Given the description of an element on the screen output the (x, y) to click on. 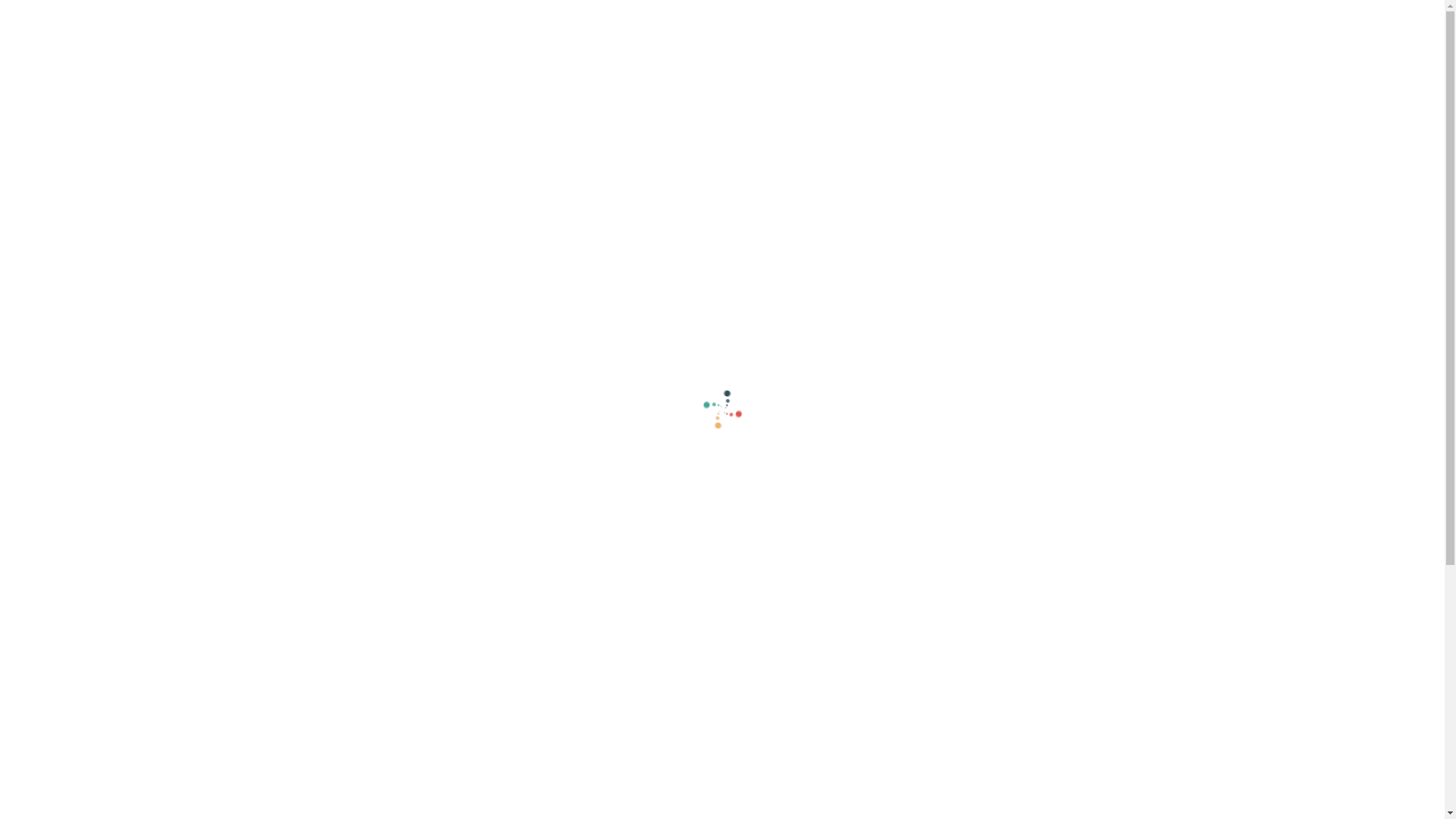
KONTAKT Element type: text (1046, 71)
Noch Fragen? Element type: text (405, 17)
INTERKULTURELLE BERATUNG BERN Element type: text (1029, 252)
Dienstleistungen Element type: text (467, 128)
Home Element type: text (385, 128)
STRESS & BURNOUT-MENTORING Element type: text (1029, 293)
albacase@albacase.ch Element type: text (970, 624)
BEITRAG (PDF) Element type: text (1100, 17)
PERSONALBERATUNG & VERMITTLUNG Element type: text (1029, 374)
CASE & CHANGE MANAGEMENT Element type: text (1029, 212)
HOME Element type: text (758, 71)
UNTERNEHMEN Element type: text (836, 71)
ANMELDUNG Element type: text (1013, 17)
albacase@albacase.ch Element type: text (542, 17)
031 305 22 22 Element type: text (676, 17)
DIENSTLEISTUNGEN Element type: text (949, 71)
